Given the description of an element on the screen output the (x, y) to click on. 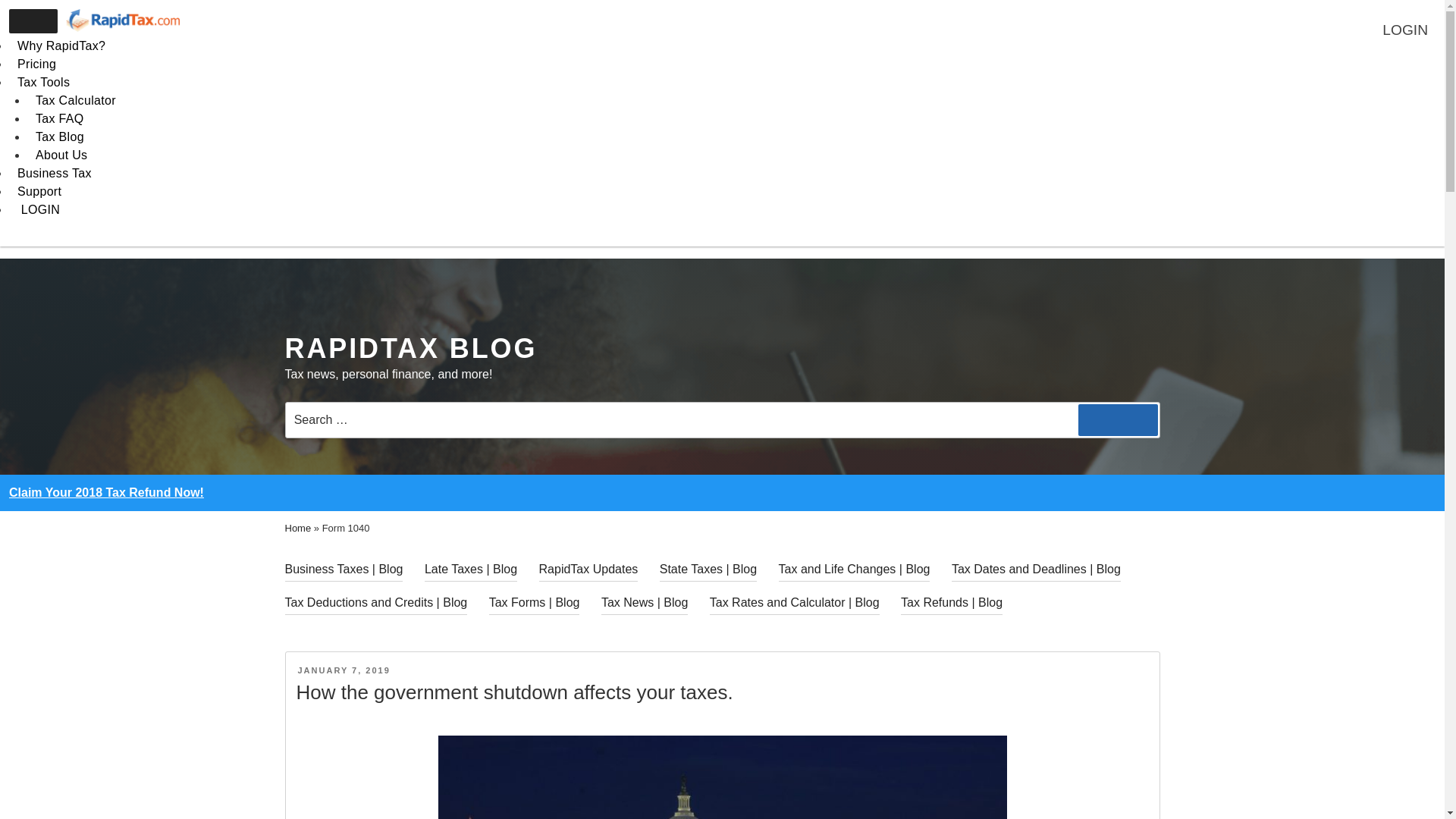
Search (1117, 419)
RAPIDTAX BLOG (411, 347)
How the government shutdown affects your taxes. (513, 691)
 LOGIN (38, 213)
Support (39, 195)
Tax Calculator (75, 100)
Claim Your 2018 Tax Refund Now! (105, 492)
About Us (60, 154)
Tax Tools (43, 86)
JANUARY 7, 2019 (343, 669)
Home (298, 527)
Pricing (36, 67)
RapidTax Updates (588, 568)
Tax FAQ (59, 118)
Business Tax (54, 177)
